Given the description of an element on the screen output the (x, y) to click on. 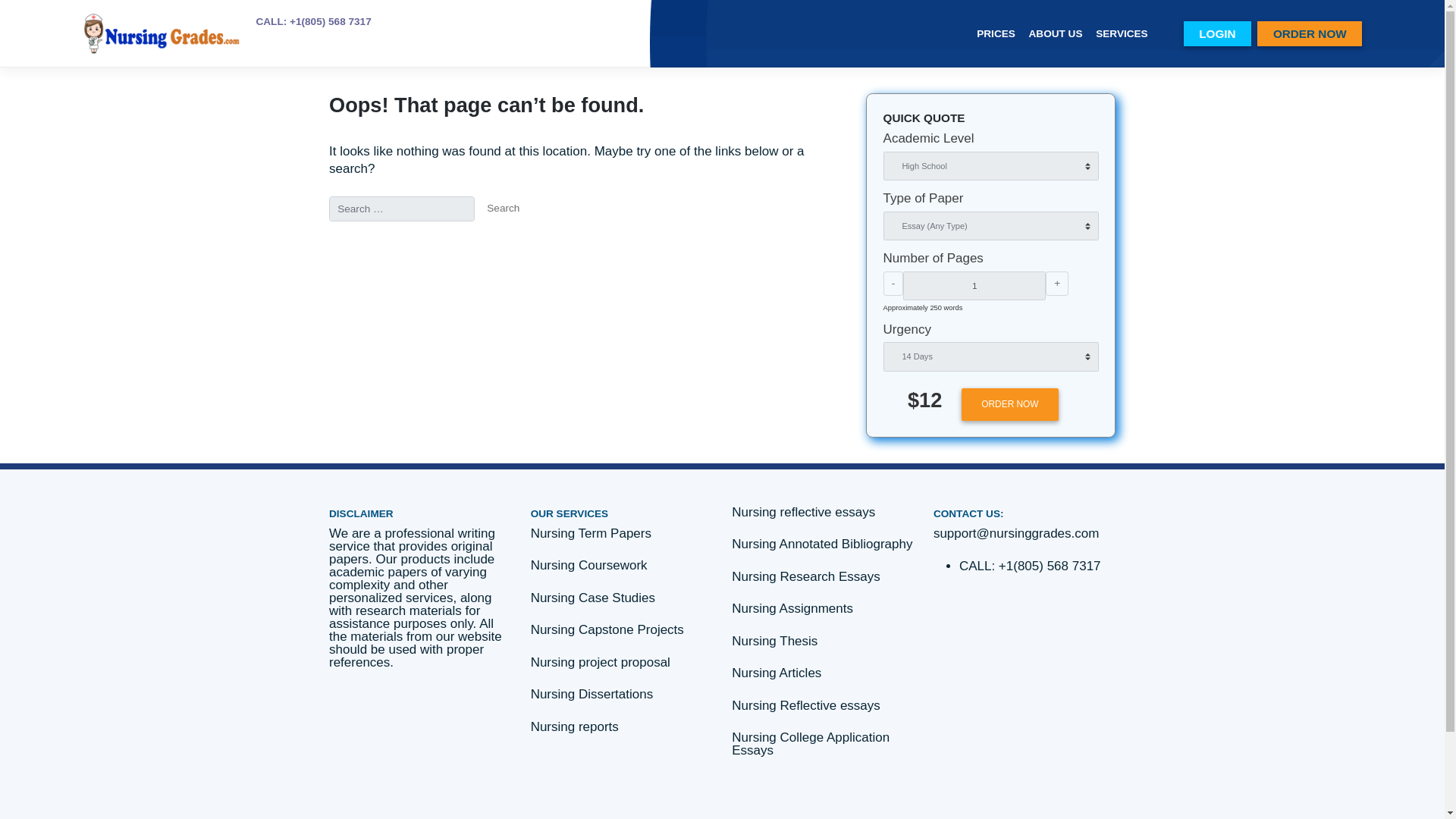
SERVICES (1319, 39)
Search (591, 245)
Search (591, 245)
PRICES (1171, 39)
LOGIN (1426, 39)
ABOUT US (1241, 39)
1 (1146, 335)
ORDER NOW (1188, 475)
LOGIN (1426, 39)
Search for: (473, 245)
